Given the description of an element on the screen output the (x, y) to click on. 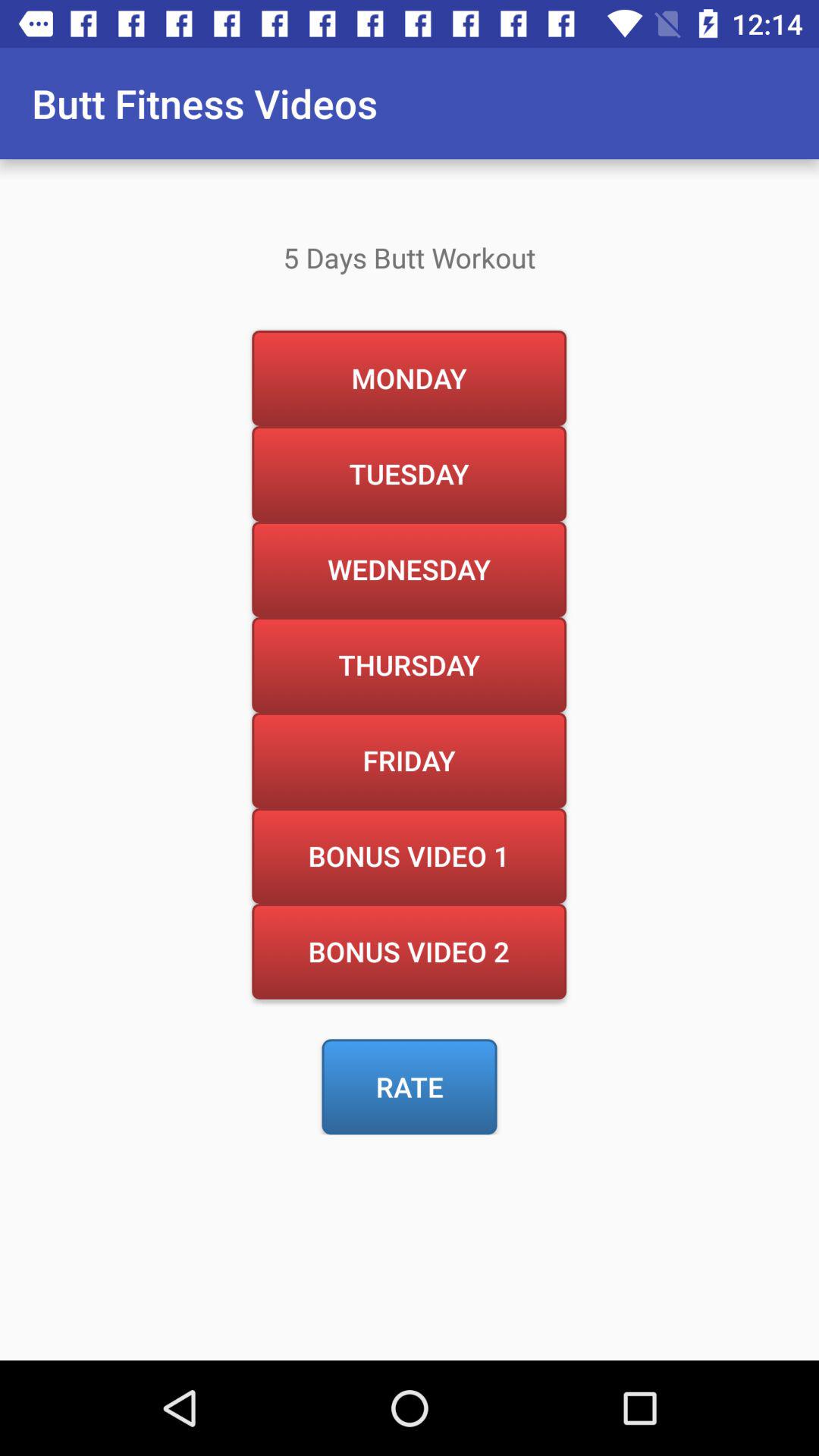
select icon above the friday icon (408, 664)
